Given the description of an element on the screen output the (x, y) to click on. 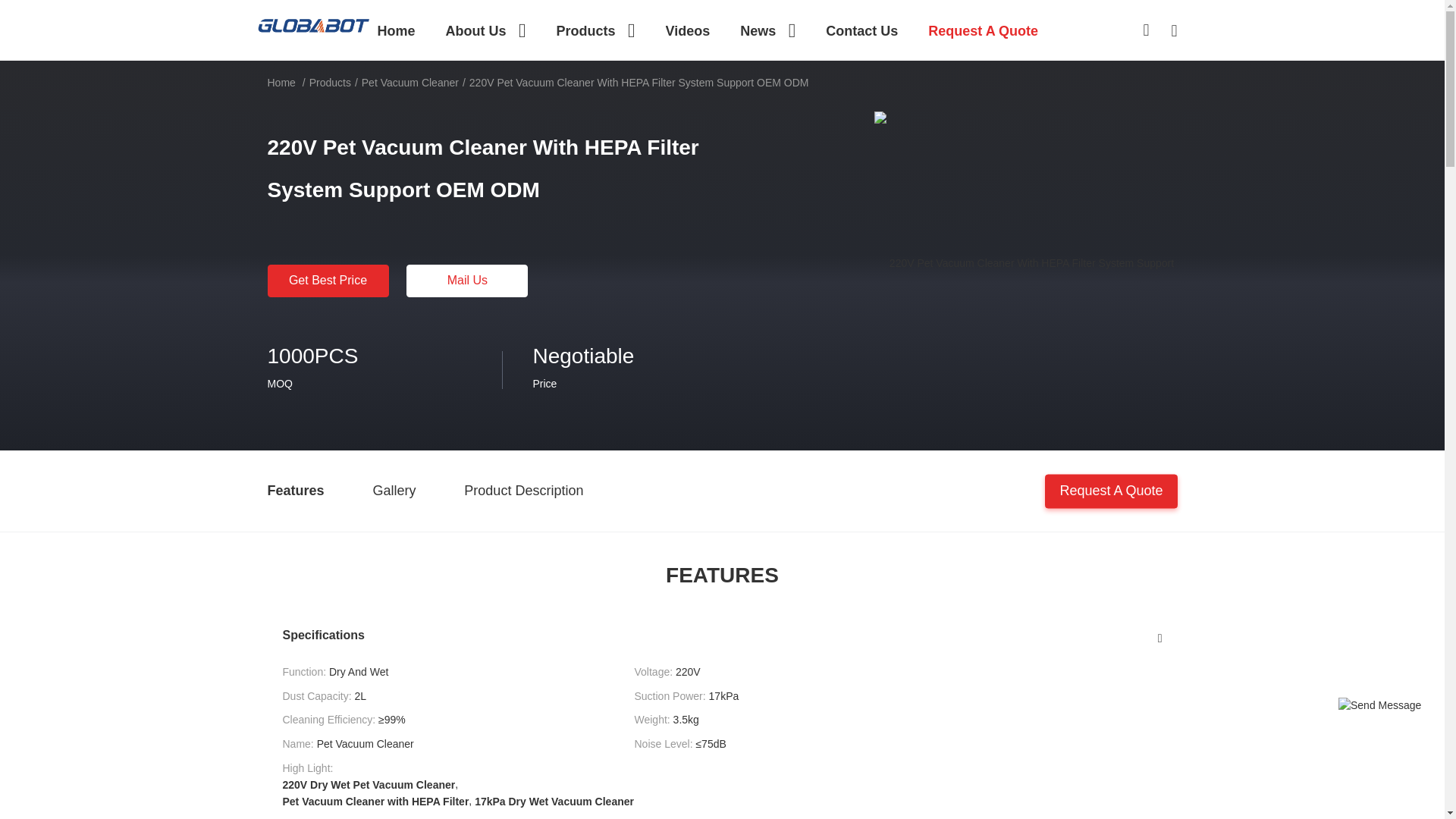
About Us (485, 30)
Products (595, 30)
Shenzhen Globabot Intelligent Technology Co.,Ltd (312, 24)
Products (595, 30)
About Us (485, 30)
